Given the description of an element on the screen output the (x, y) to click on. 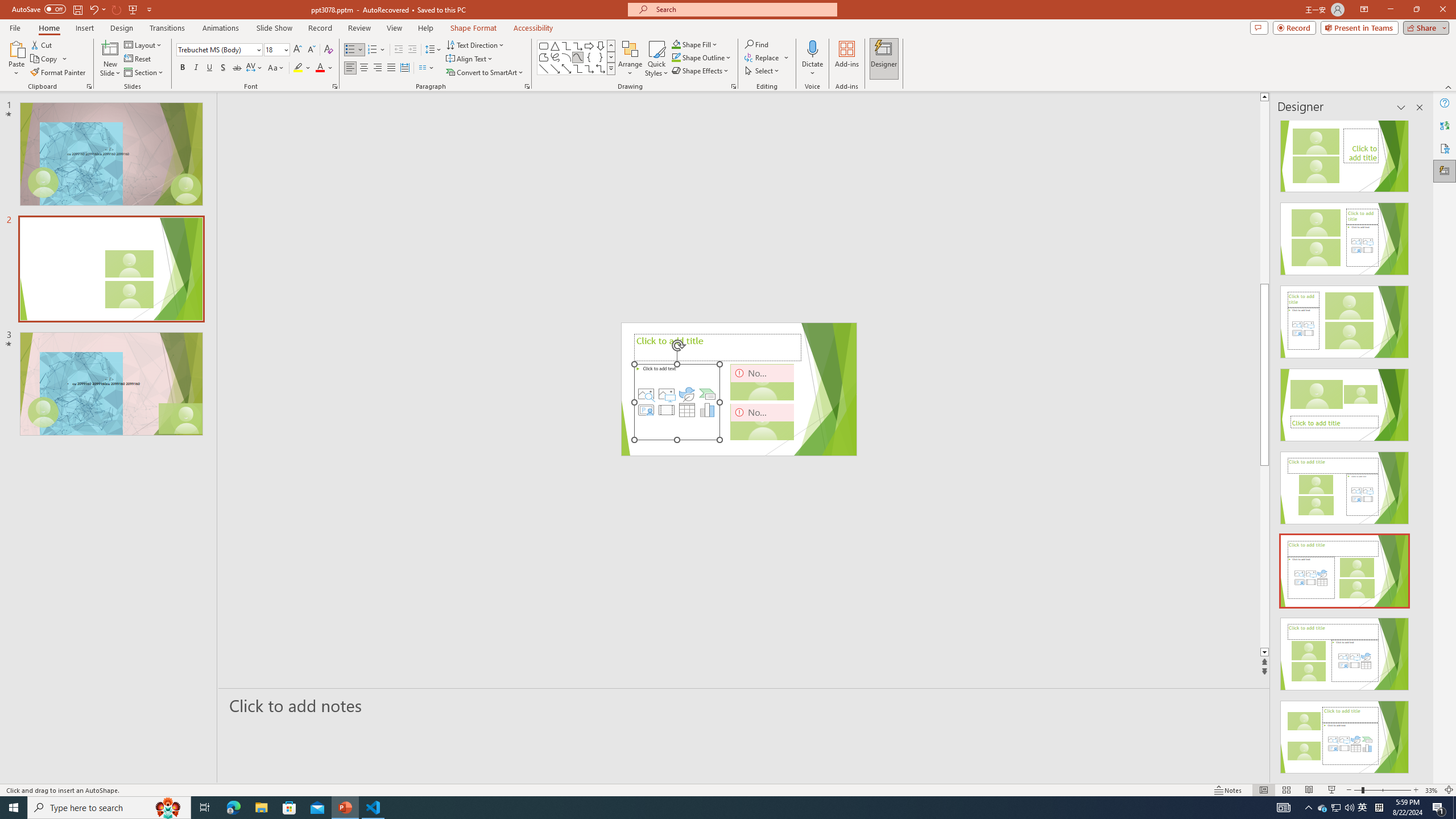
Insert Video (666, 409)
Pictures (666, 394)
Camera 5, No camera detected. (761, 382)
